Given the description of an element on the screen output the (x, y) to click on. 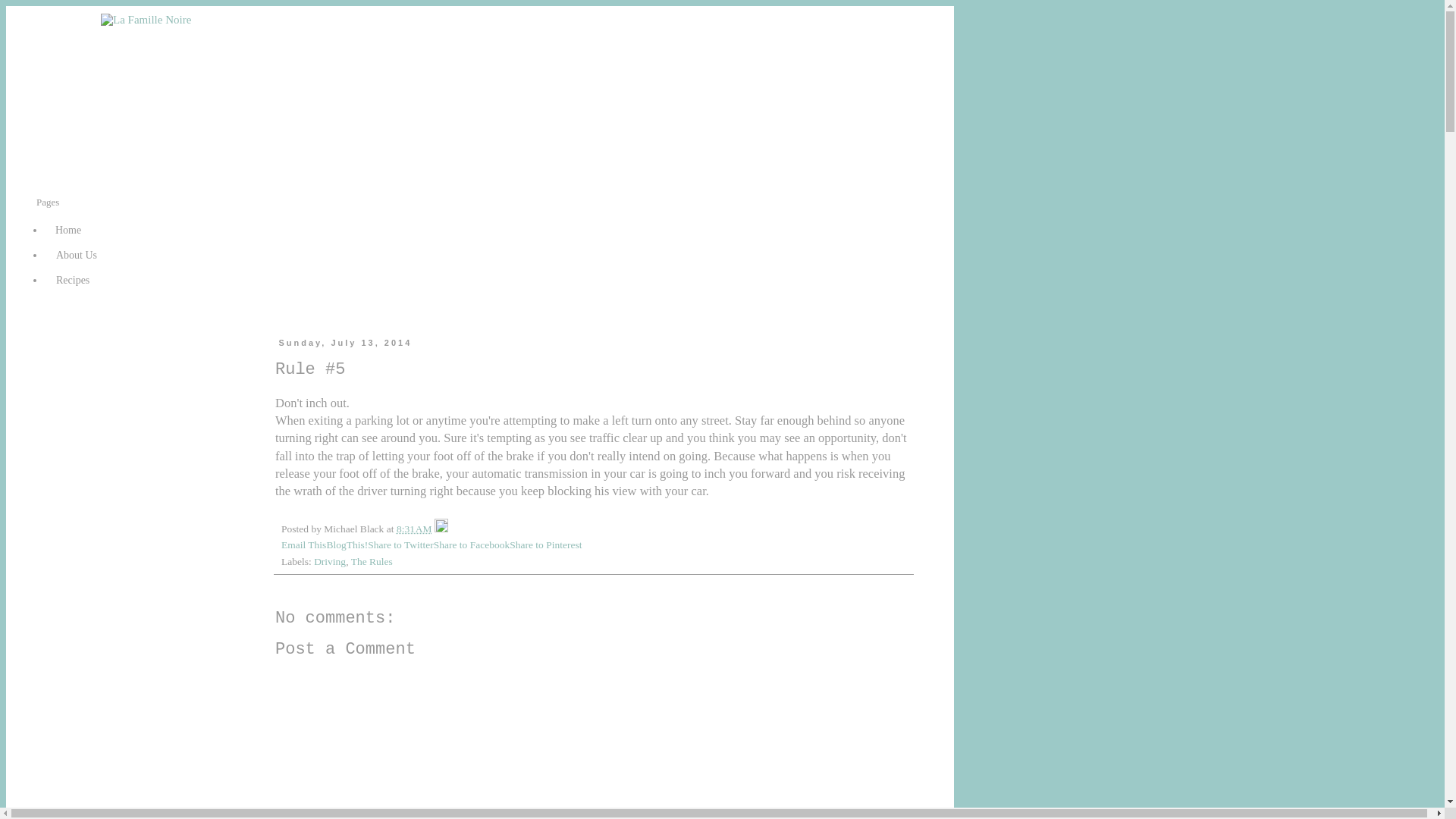
Share to Twitter (400, 544)
The Rules (371, 561)
Email This (303, 544)
BlogThis! (347, 544)
BlogThis! (347, 544)
permanent link (414, 528)
Edit Post (440, 528)
Recipes (72, 280)
Share to Twitter (400, 544)
Share to Facebook (471, 544)
Share to Pinterest (544, 544)
Driving (330, 561)
Home (69, 230)
Share to Pinterest (544, 544)
